Given the description of an element on the screen output the (x, y) to click on. 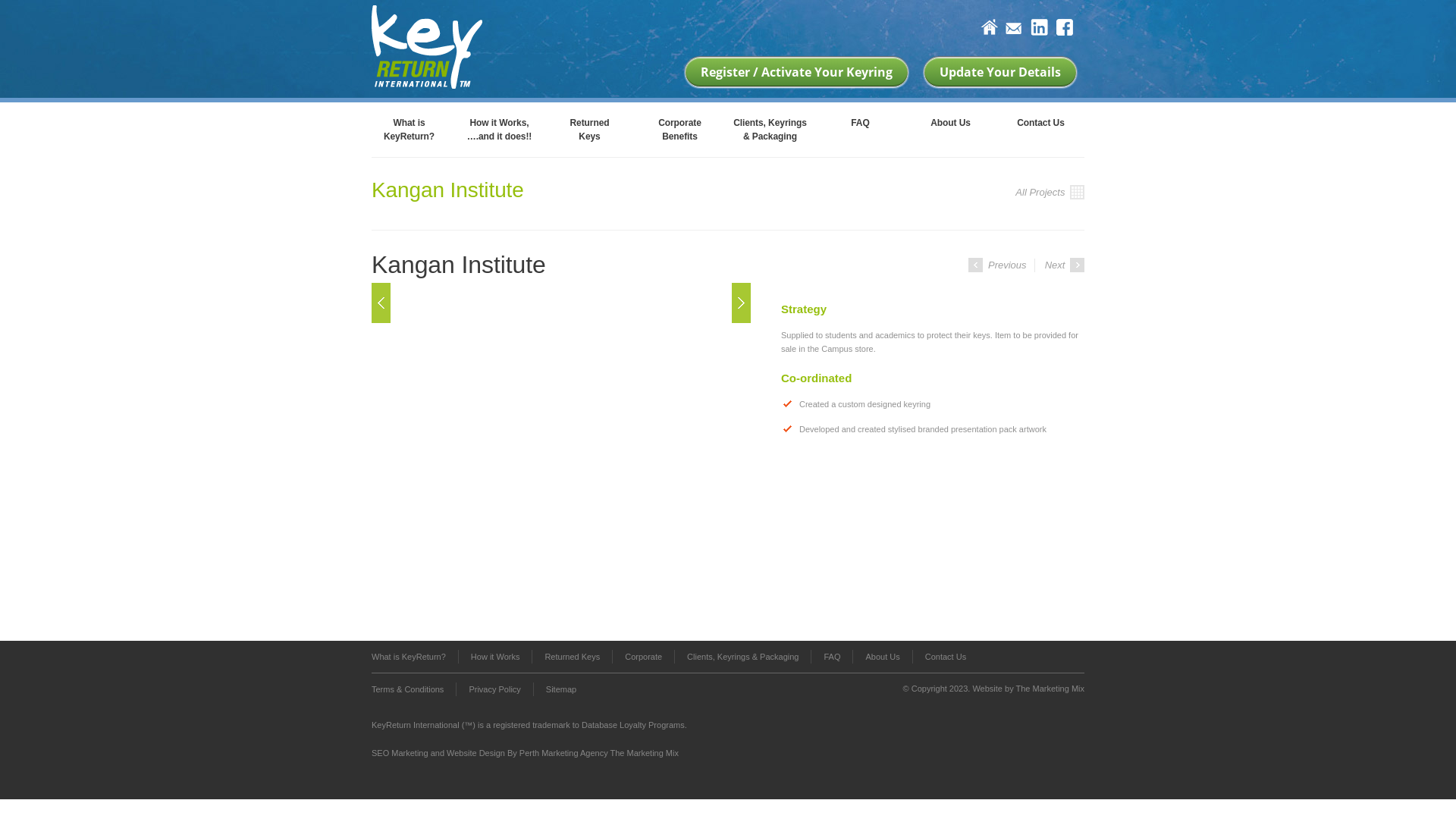
Terms & Conditions Element type: text (413, 689)
Clients, Keyrings & Packaging Element type: text (742, 656)
Clients, Keyrings
& Packaging Element type: text (769, 127)
Returned Keys Element type: text (571, 656)
Returned
Keys Element type: text (589, 127)
FAQ Element type: text (860, 127)
Facebook Element type: text (1064, 27)
Perth Marketing Agency The Marketing Mix Element type: text (598, 752)
Register / Activate Your Keyring Element type: text (796, 71)
Contact Us Element type: text (939, 656)
Contact Us Element type: text (1040, 127)
Mail Element type: text (1013, 29)
Corporate Element type: text (642, 656)
Privacy Policy Element type: text (493, 689)
Next Element type: text (740, 302)
Update Your Details Element type: text (999, 71)
Website Design Element type: text (475, 752)
All Projects Element type: text (1049, 192)
What is
KeyReturn? Element type: text (409, 127)
About Us Element type: text (950, 127)
Home Element type: text (988, 27)
The Marketing Mix Element type: text (1050, 688)
Prev Element type: text (380, 302)
FAQ Element type: text (831, 656)
LinkedIn Element type: text (1039, 27)
How it Works Element type: text (495, 656)
Corporate
Benefits Element type: text (679, 127)
KeyReturn Element type: text (426, 45)
About Us Element type: text (881, 656)
Sitemap Element type: text (554, 689)
SEO Marketing Element type: text (399, 752)
What is KeyReturn? Element type: text (414, 656)
